Given the description of an element on the screen output the (x, y) to click on. 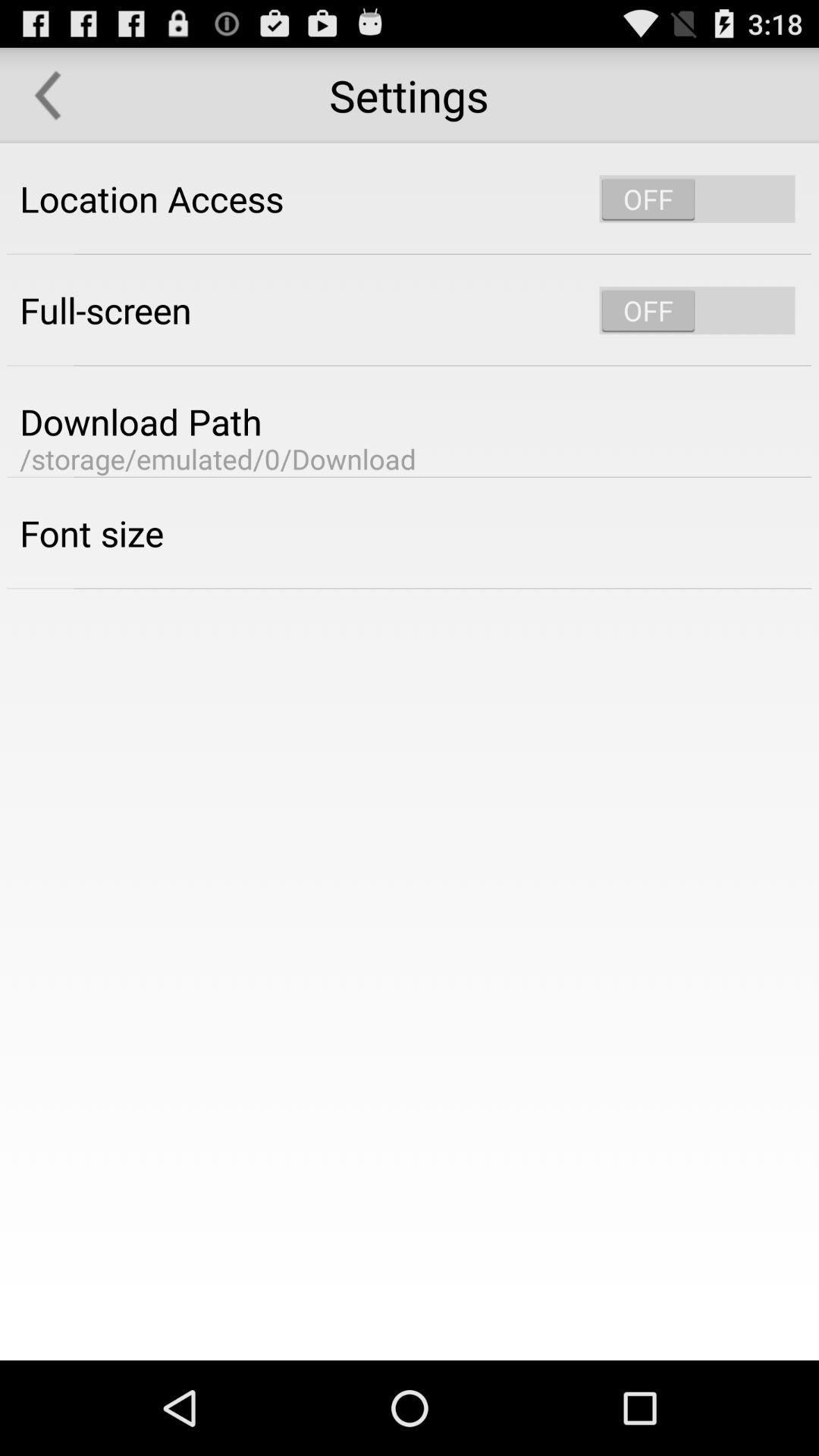
launch the icon to the left of the settings item (47, 95)
